Given the description of an element on the screen output the (x, y) to click on. 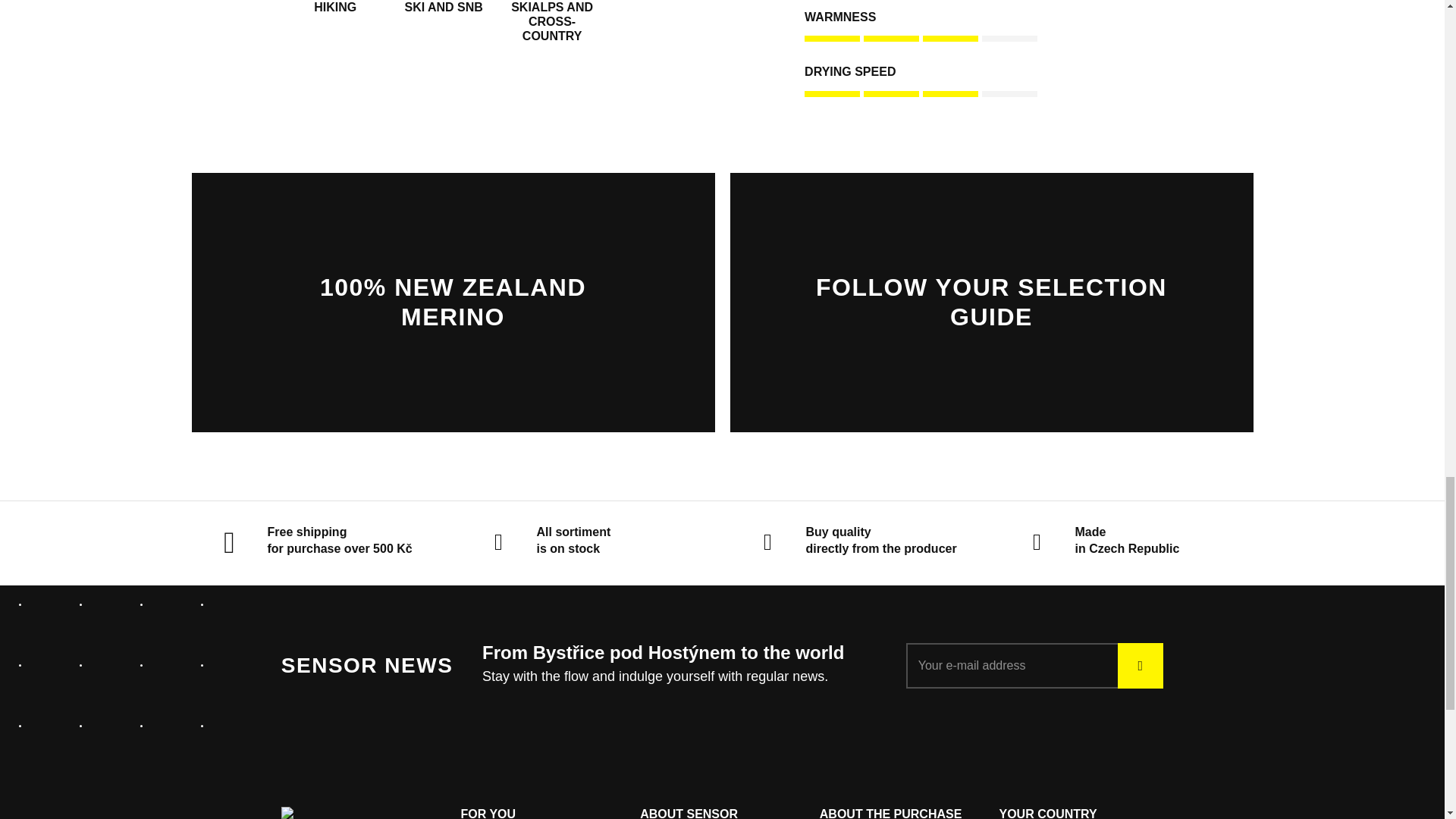
High (984, 84)
Medium (984, 29)
